Given the description of an element on the screen output the (x, y) to click on. 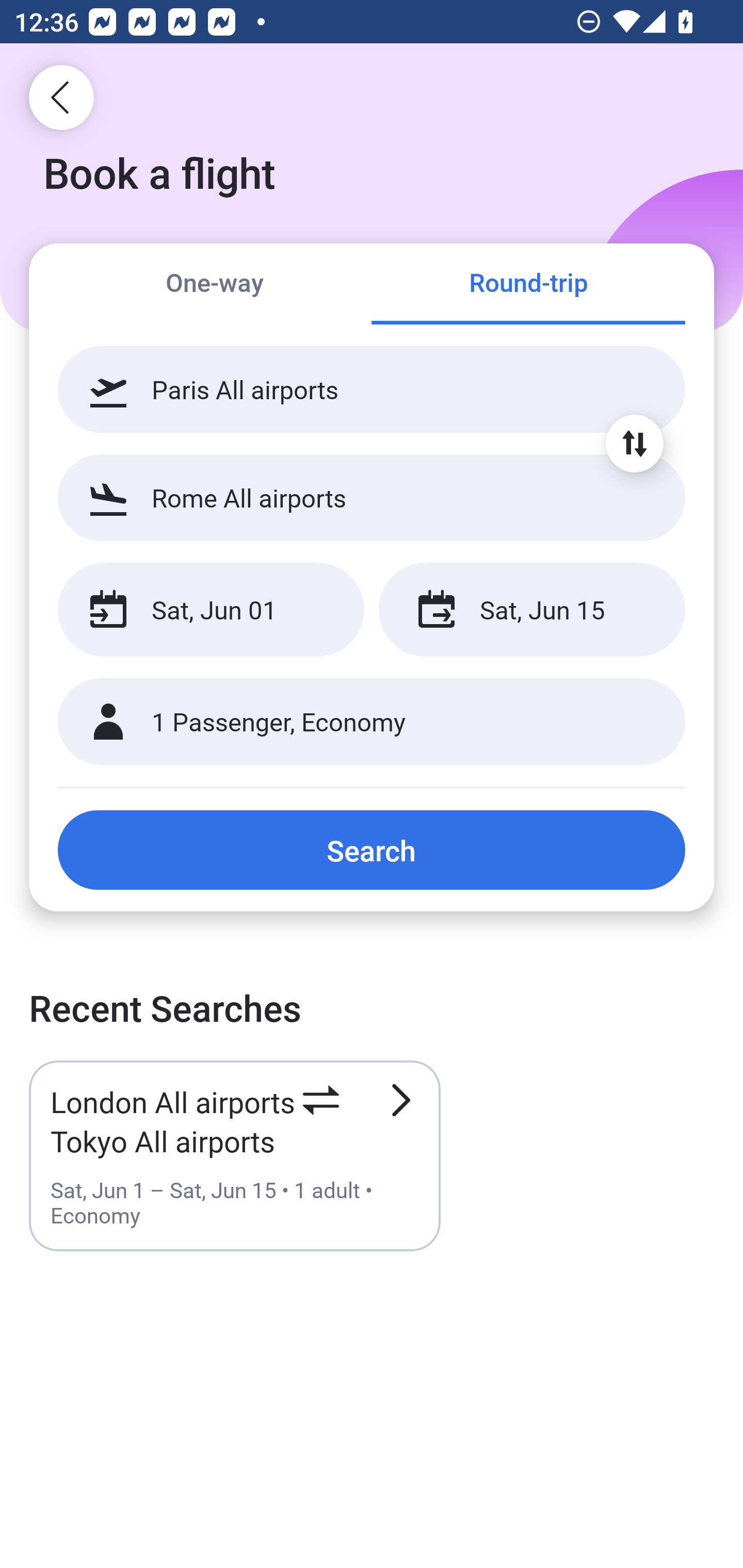
One-way (214, 284)
Paris All airports (371, 389)
Rome All airports (371, 497)
Sat, Jun 01 (210, 609)
Sat, Jun 15 (531, 609)
1 Passenger, Economy (371, 721)
Search (371, 849)
